Given the description of an element on the screen output the (x, y) to click on. 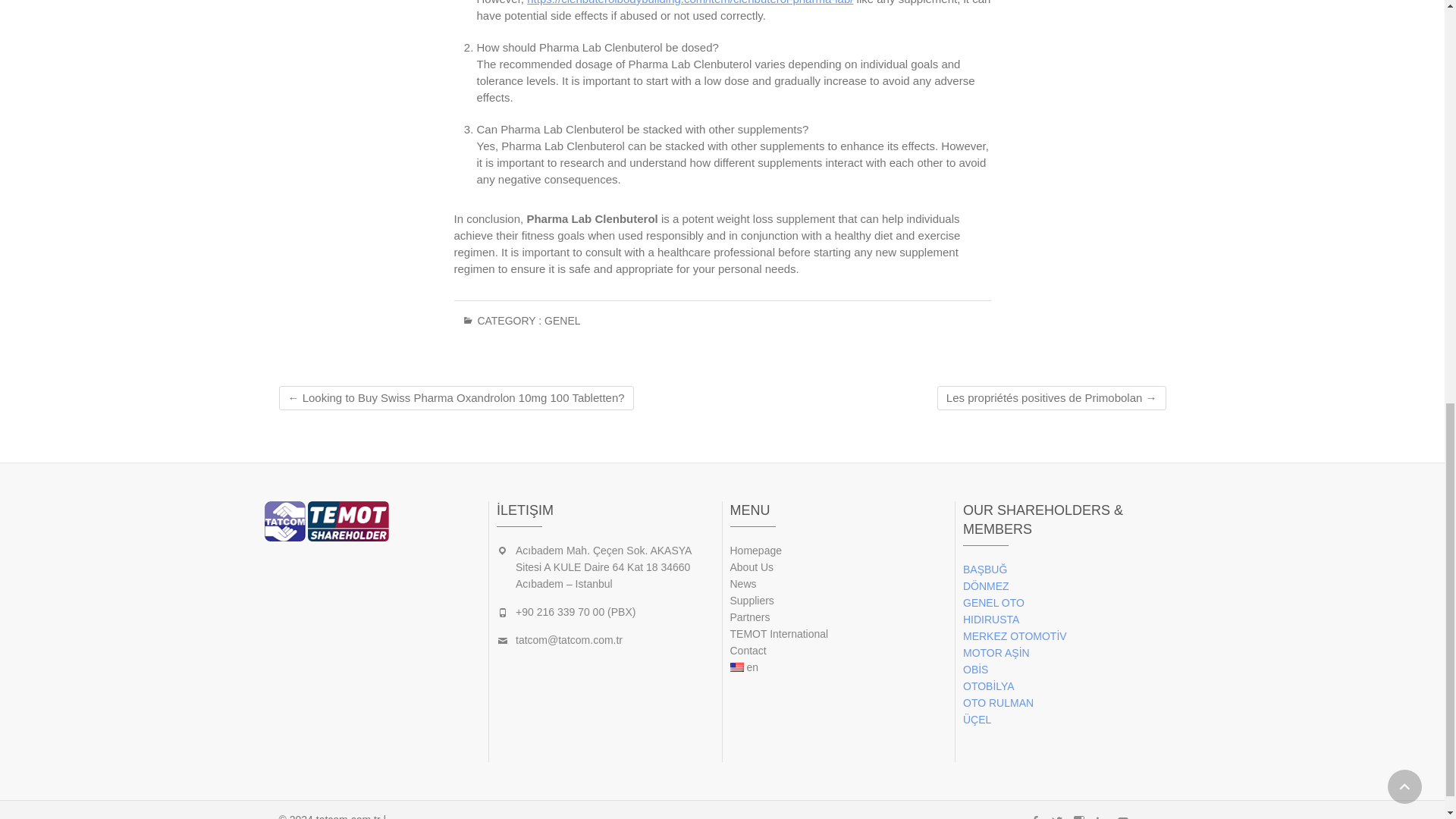
Contact (838, 650)
tatcom.com.tr (347, 816)
About Us (838, 566)
News (838, 583)
TEMOT International (838, 633)
Homepage (838, 550)
GENEL (561, 326)
Suppliers (838, 600)
Partners (838, 617)
en (838, 667)
